Given the description of an element on the screen output the (x, y) to click on. 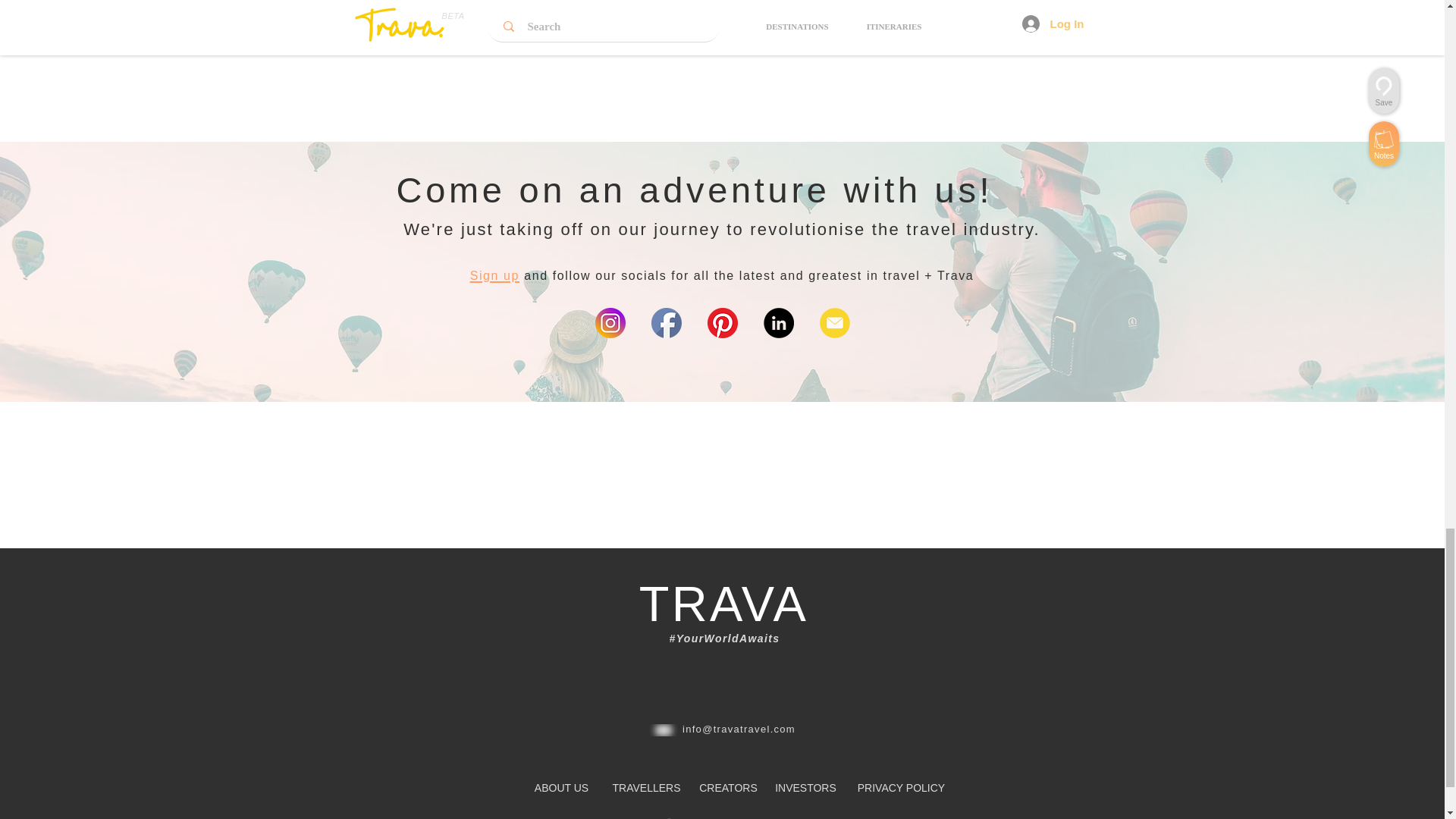
INVESTORS (805, 788)
PRIVACY POLICY (900, 788)
CREATORS (727, 788)
Sign up (494, 273)
ABOUT US (560, 788)
TRAVELLERS (646, 788)
